Given the description of an element on the screen output the (x, y) to click on. 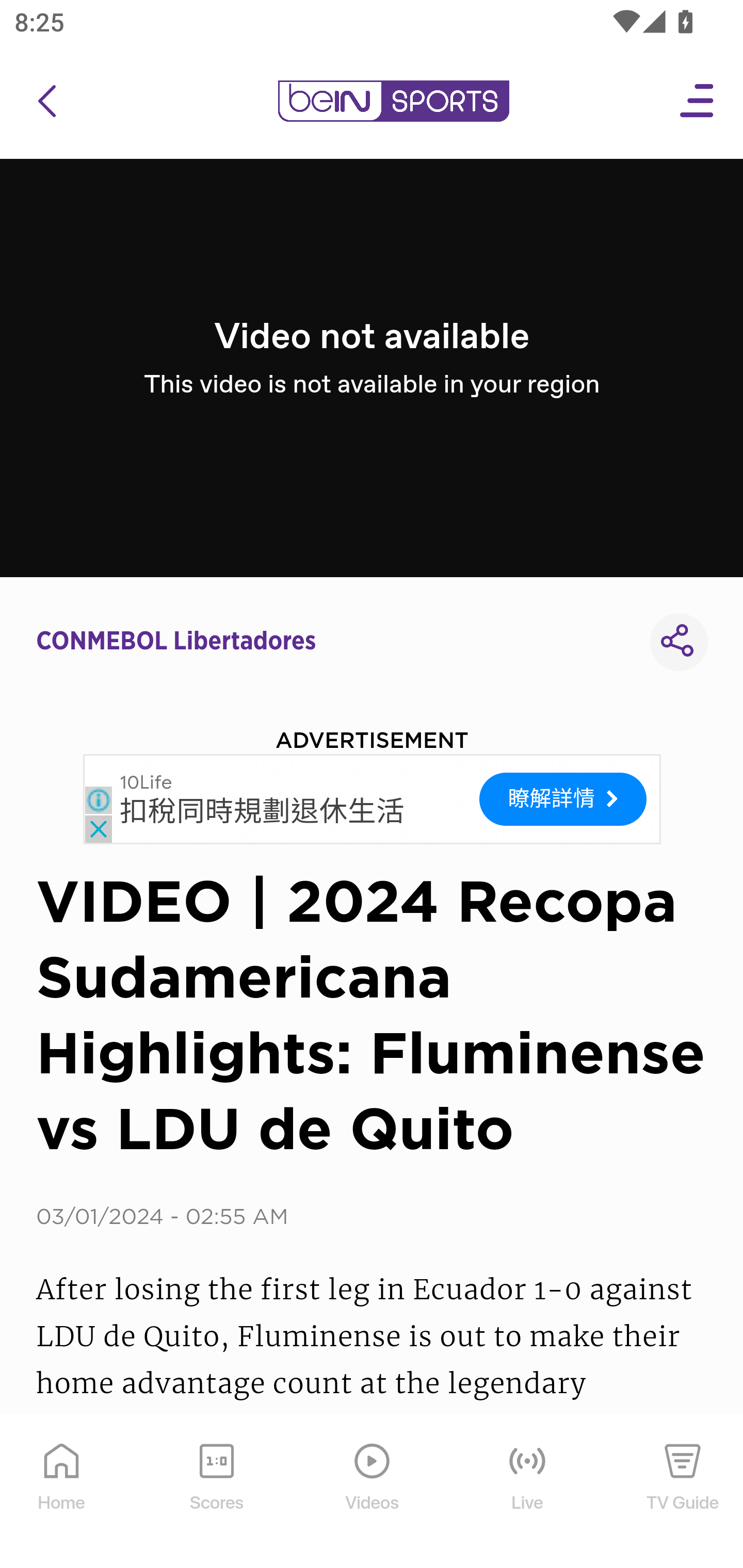
en-us?platform=mobile_android bein logo (392, 101)
icon back (46, 101)
Open Menu Icon (697, 101)
10Life (145, 782)
瞭解詳情 (562, 799)
扣稅同時規劃退休生活 (262, 811)
Home Home Icon Home (61, 1491)
Scores Scores Icon Scores (216, 1491)
Videos Videos Icon Videos (372, 1491)
TV Guide TV Guide Icon TV Guide (682, 1491)
